Given the description of an element on the screen output the (x, y) to click on. 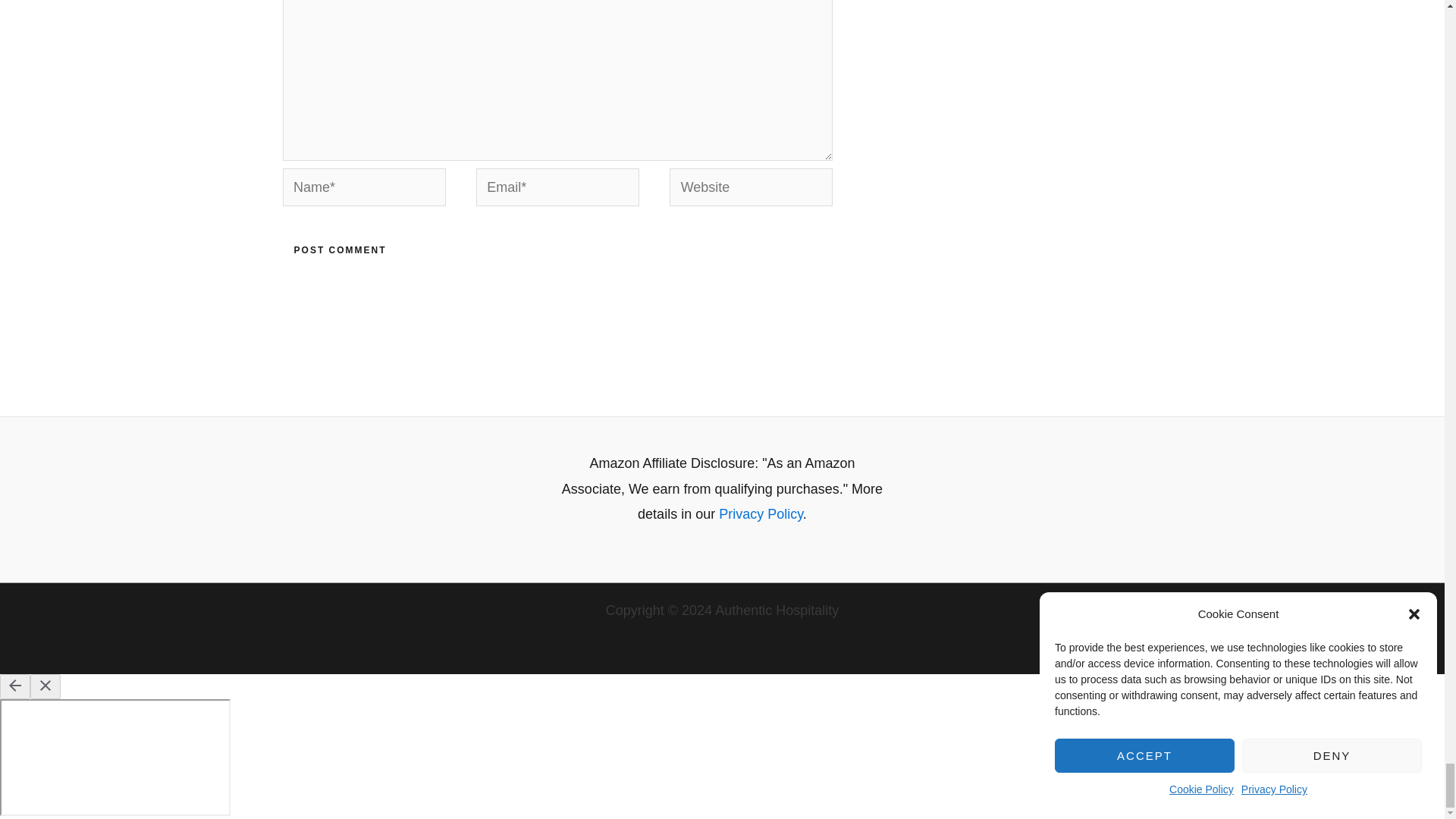
Post Comment (339, 250)
